Given the description of an element on the screen output the (x, y) to click on. 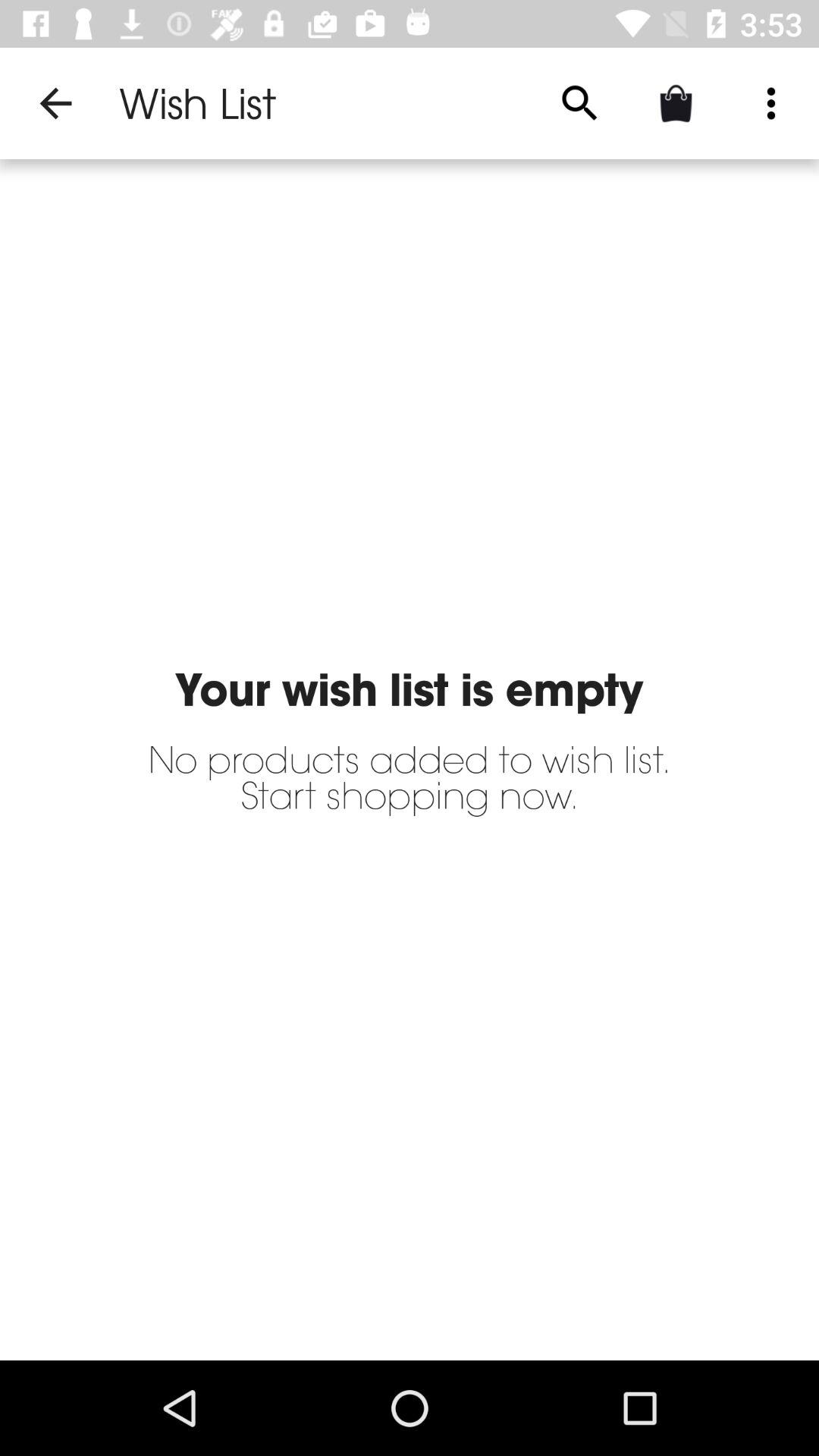
press app next to the wish list item (579, 103)
